Given the description of an element on the screen output the (x, y) to click on. 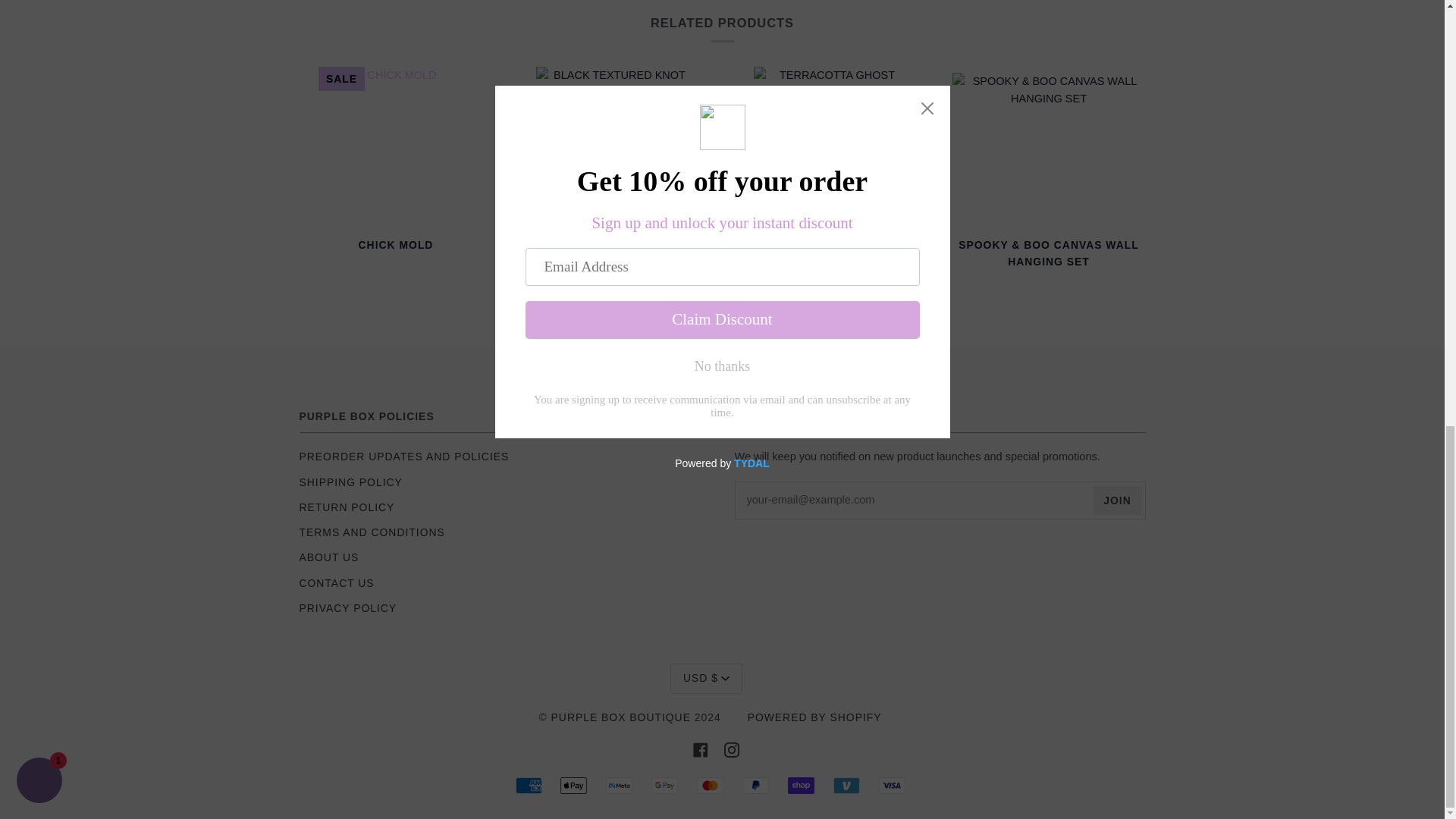
VISA (890, 785)
VENMO (846, 785)
PAYPAL (755, 785)
GOOGLE PAY (664, 785)
APPLE PAY (573, 785)
META PAY (618, 785)
Facebook (700, 748)
SHOP PAY (800, 785)
SALE (395, 143)
CHICK MOLD (395, 254)
AMERICAN EXPRESS (528, 785)
BLACK TEXTURED KNOT CEMENT VASE (613, 263)
Instagram (731, 748)
MASTERCARD (710, 785)
